Given the description of an element on the screen output the (x, y) to click on. 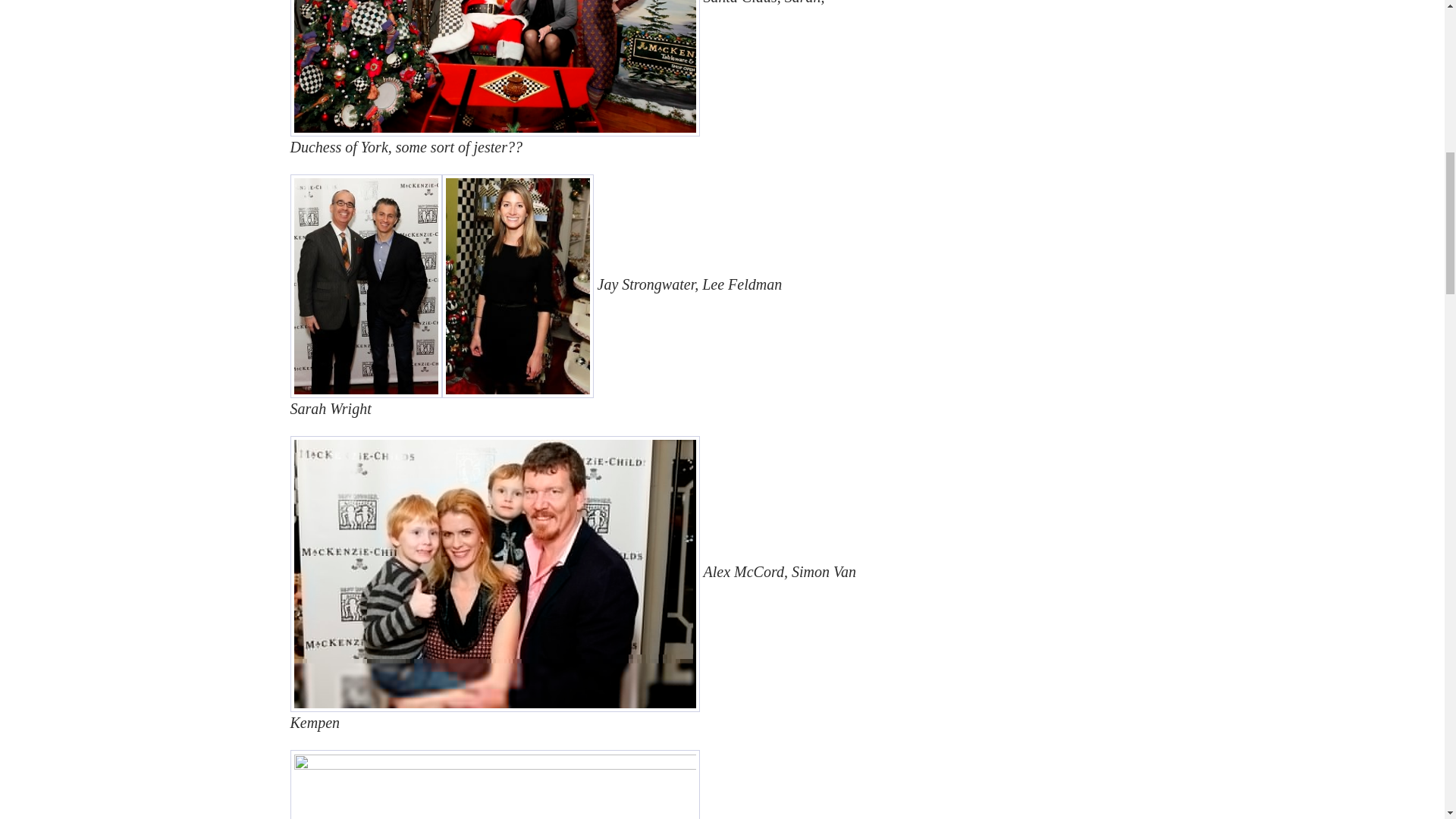
Sarah, Duchess of York  (493, 68)
Rochelle Feldman, Lee Feldman, Joe Feldman  (493, 784)
Alex McCord, Simon Van Kempen  (493, 573)
